Given the description of an element on the screen output the (x, y) to click on. 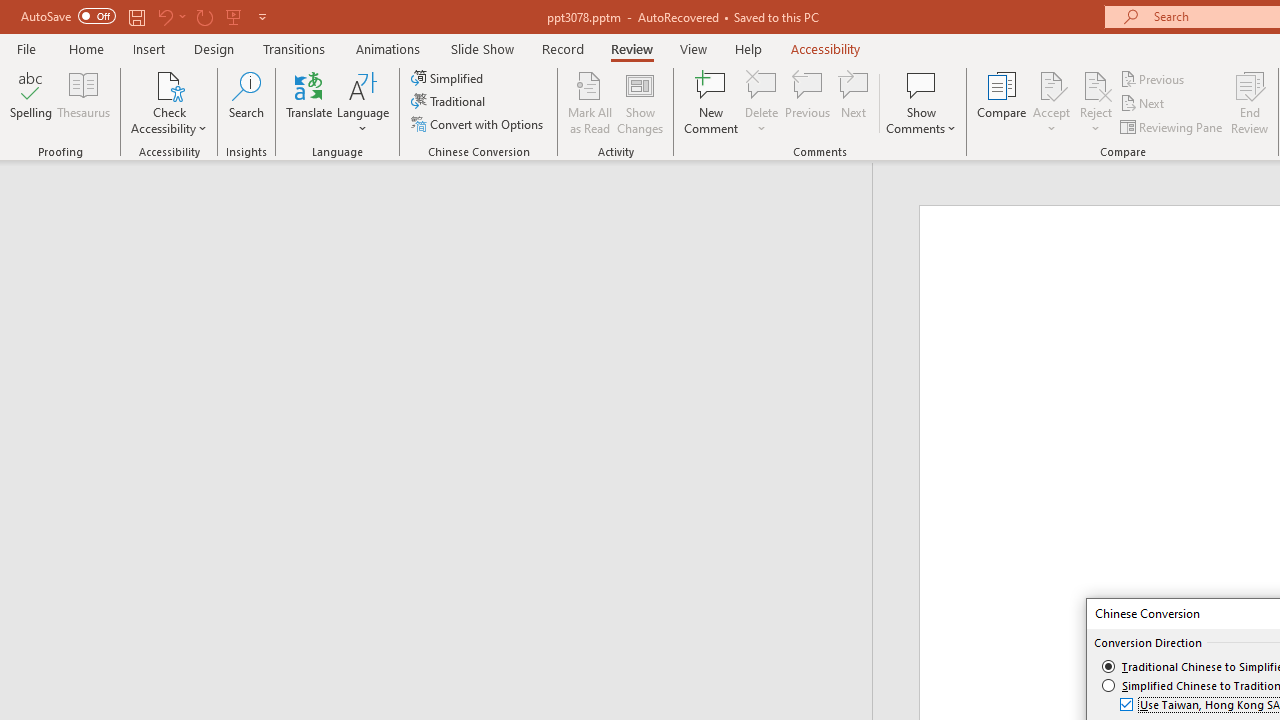
Language (363, 102)
Traditional (449, 101)
Simplified (449, 78)
Mark All as Read (589, 102)
Next (1144, 103)
Spelling... (31, 102)
